Given the description of an element on the screen output the (x, y) to click on. 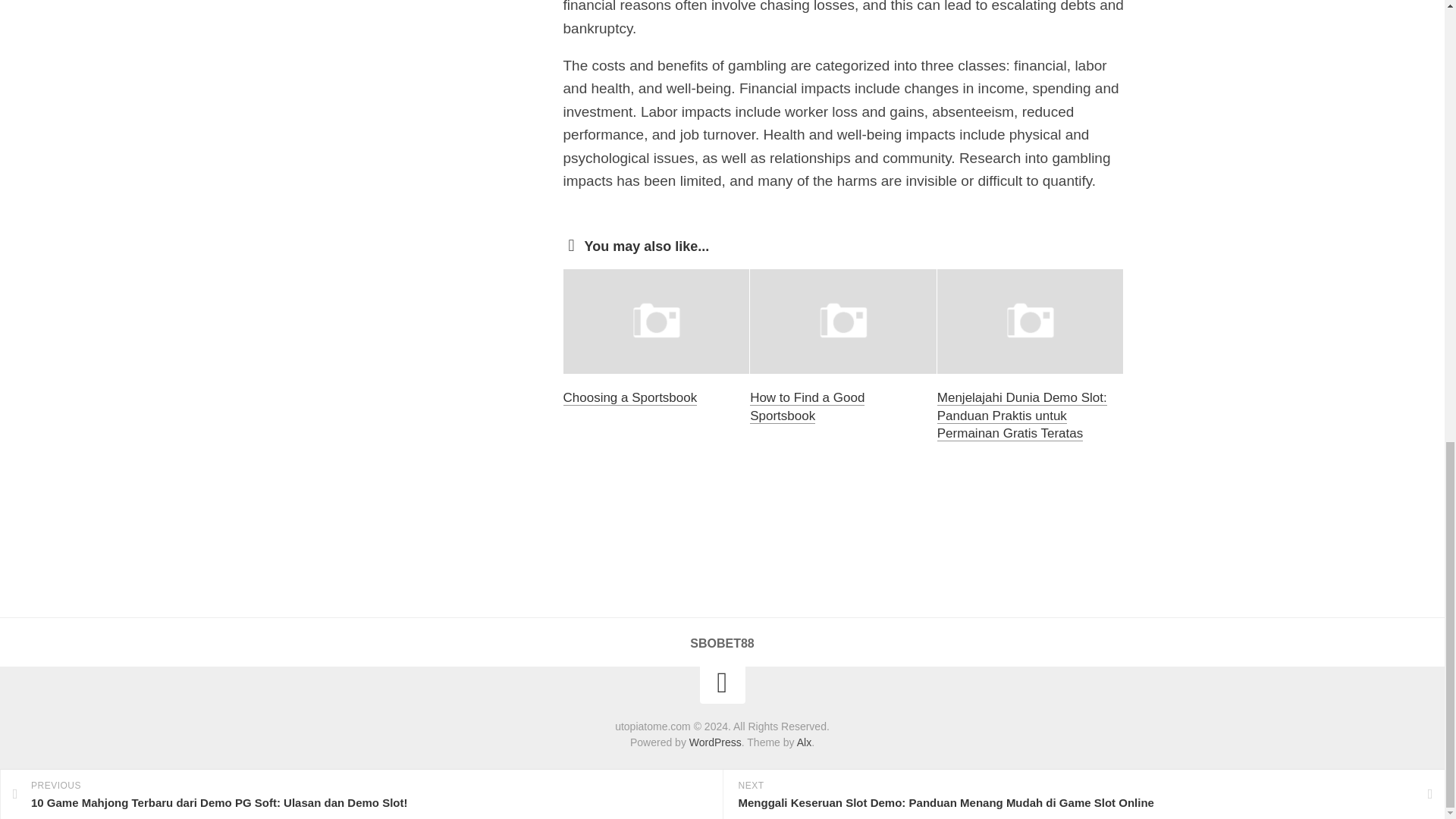
WordPress (714, 742)
Alx (803, 742)
How to Find a Good Sportsbook (806, 406)
SBOBET88 (722, 643)
Choosing a Sportsbook (629, 397)
